Given the description of an element on the screen output the (x, y) to click on. 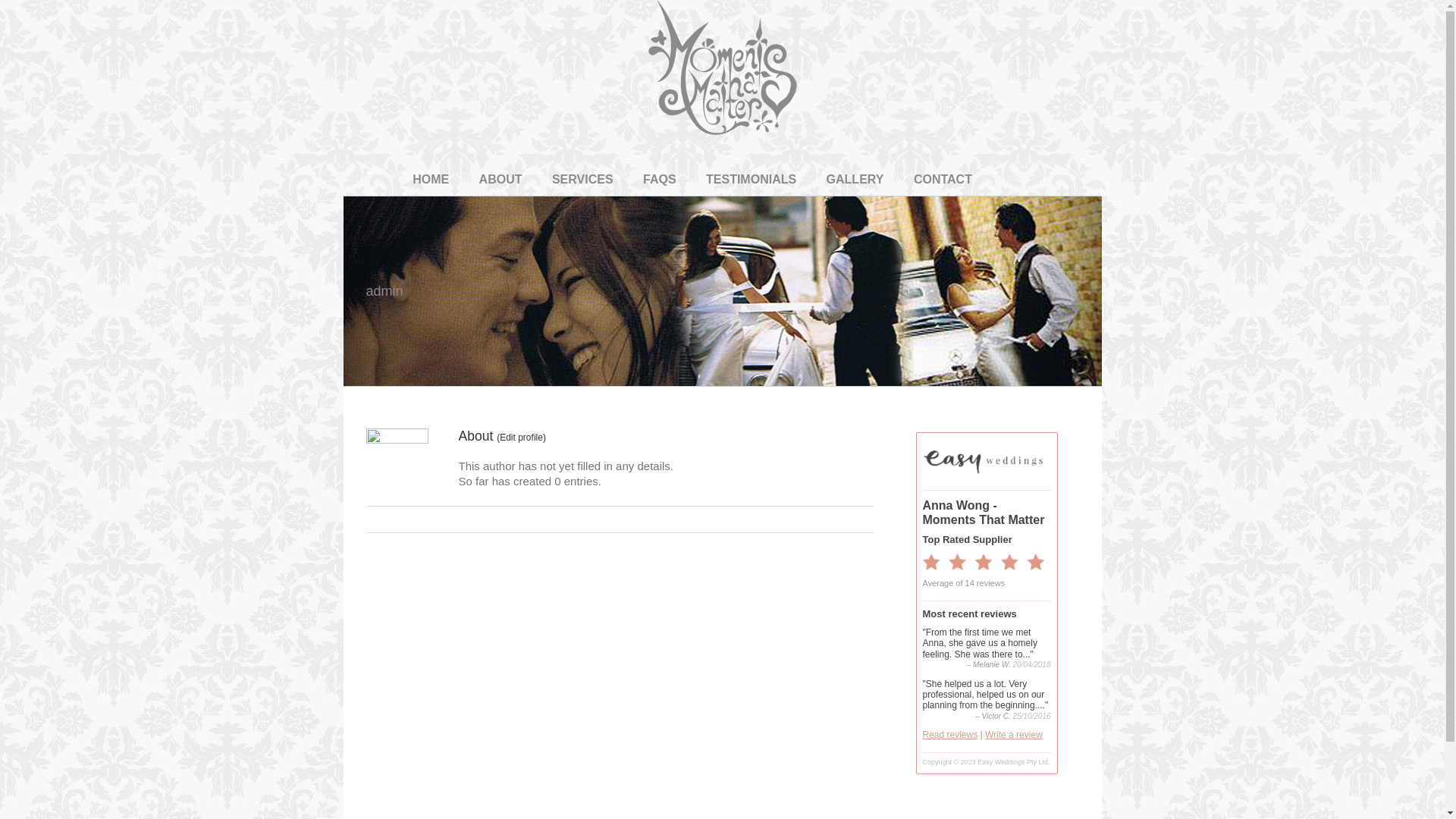
Edit profile Element type: text (520, 437)
Anna Wong - Moments That Matter Element type: text (983, 512)
TESTIMONIALS Element type: text (751, 178)
Write a review Element type: text (1013, 734)
CONTACT Element type: text (942, 178)
Average of 14 reviews Element type: text (963, 582)
HOME Element type: text (430, 178)
FAQS Element type: text (659, 178)
Read reviews Element type: text (949, 734)
ABOUT Element type: text (500, 178)
SERVICES Element type: text (582, 178)
GALLERY Element type: text (855, 178)
